Given the description of an element on the screen output the (x, y) to click on. 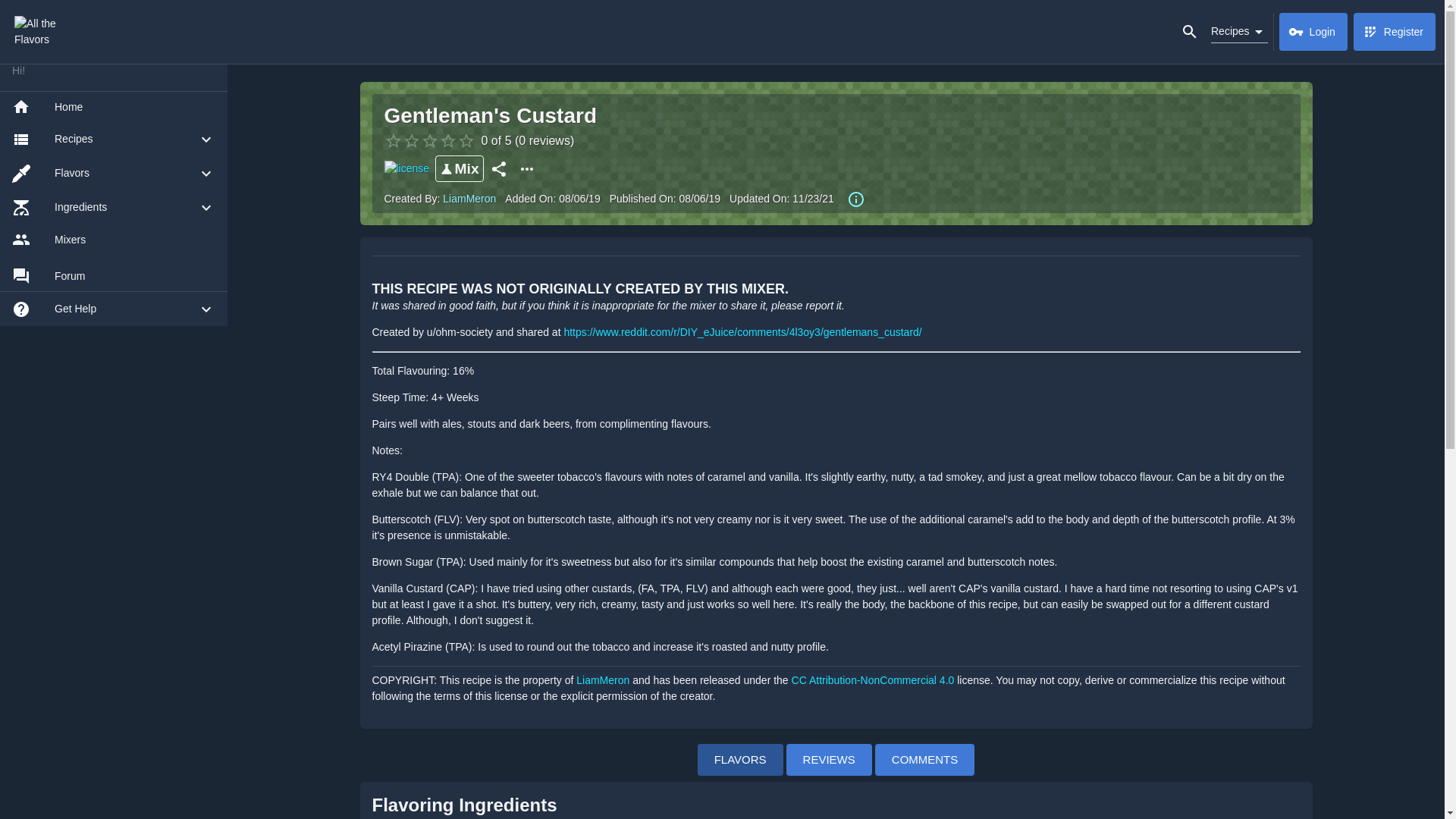
Forum (113, 276)
CC Attribution-NonCommercial 4.0 (873, 679)
LiamMeron (469, 198)
Gentleman's Custard (490, 115)
COMMENTS (925, 758)
FLAVORS (740, 758)
Mixers (113, 239)
REVIEWS (829, 758)
Home (113, 106)
Login (1313, 31)
LiamMeron (603, 679)
Register (1394, 31)
Mix (459, 168)
